Given the description of an element on the screen output the (x, y) to click on. 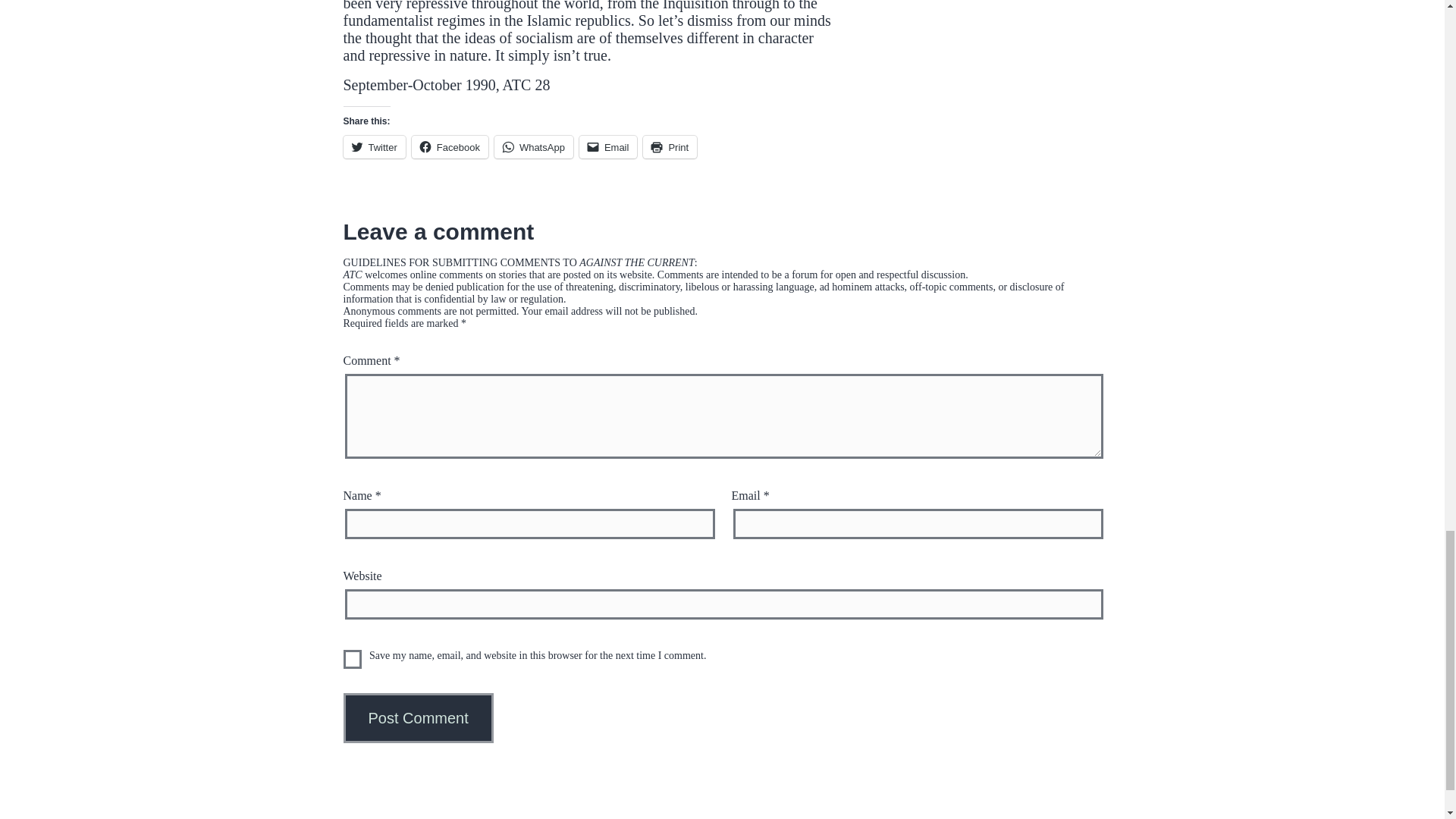
Click to email a link to a friend (608, 146)
yes (351, 659)
Click to print (670, 146)
Click to share on Twitter (373, 146)
Click to share on WhatsApp (534, 146)
Click to share on Facebook (449, 146)
Post Comment (417, 717)
